Given the description of an element on the screen output the (x, y) to click on. 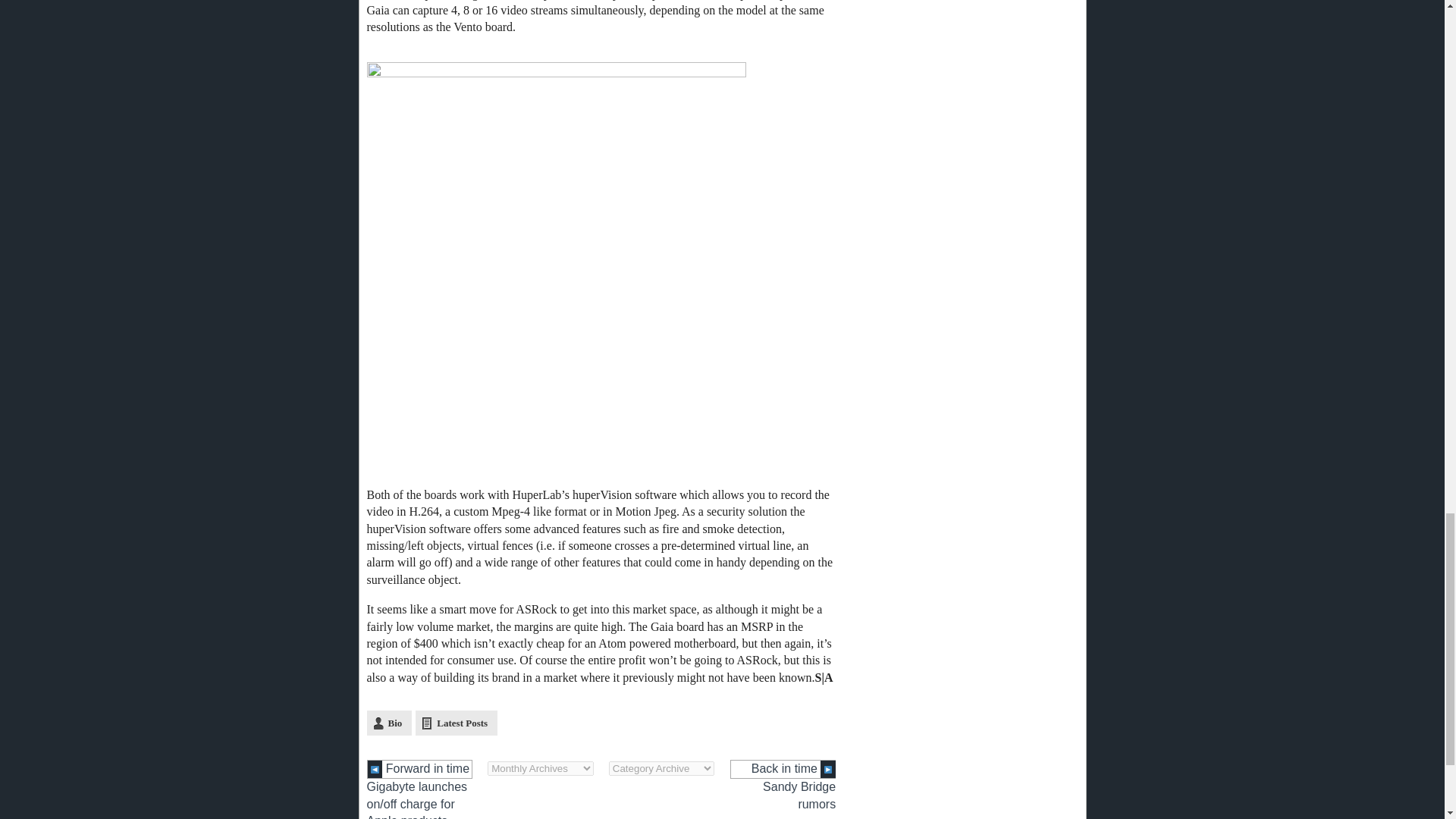
Forward in time (419, 769)
Latest Posts (455, 722)
Back in time (782, 769)
Sandy Bridge rumors (798, 794)
Bio (389, 722)
